Given the description of an element on the screen output the (x, y) to click on. 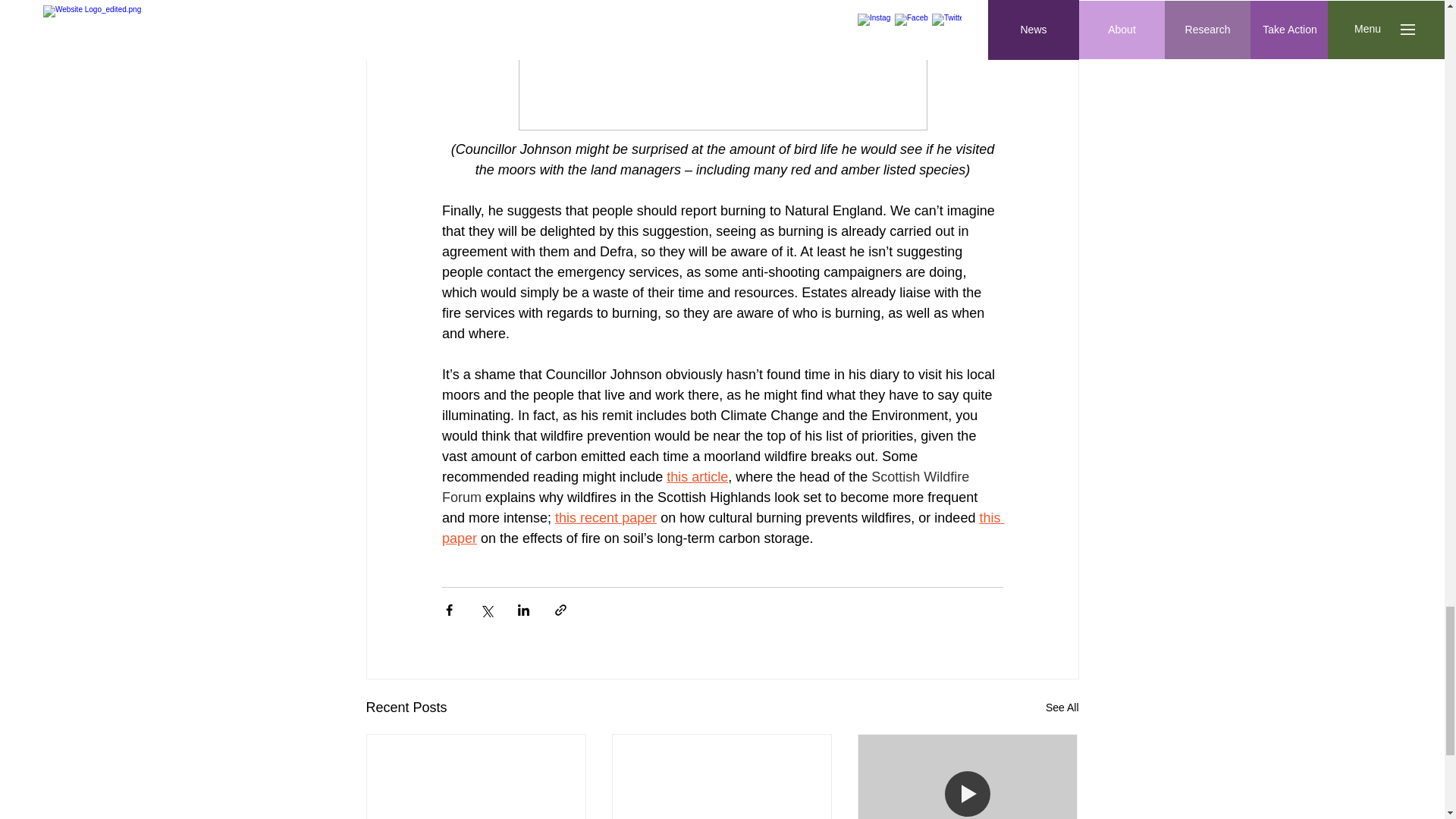
this recent paper (605, 516)
this paper (722, 527)
this article (697, 476)
See All (1061, 707)
